Given the description of an element on the screen output the (x, y) to click on. 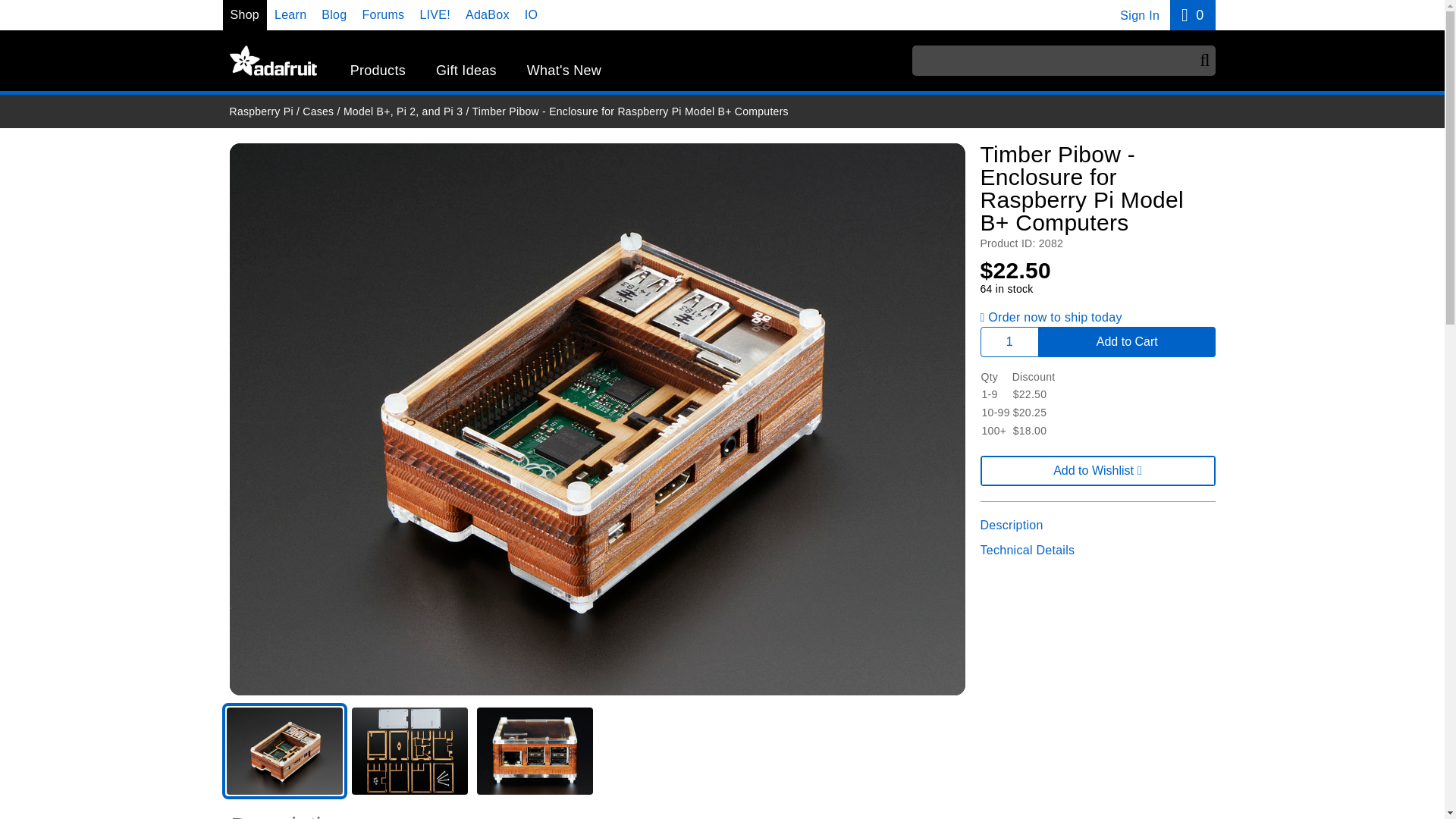
LIVE! (434, 14)
Sign In (1192, 14)
AdaBox (1138, 15)
Blog (487, 14)
Learn (333, 14)
Shop (290, 14)
Adafruit (245, 14)
IO (271, 60)
1 (530, 14)
